Given the description of an element on the screen output the (x, y) to click on. 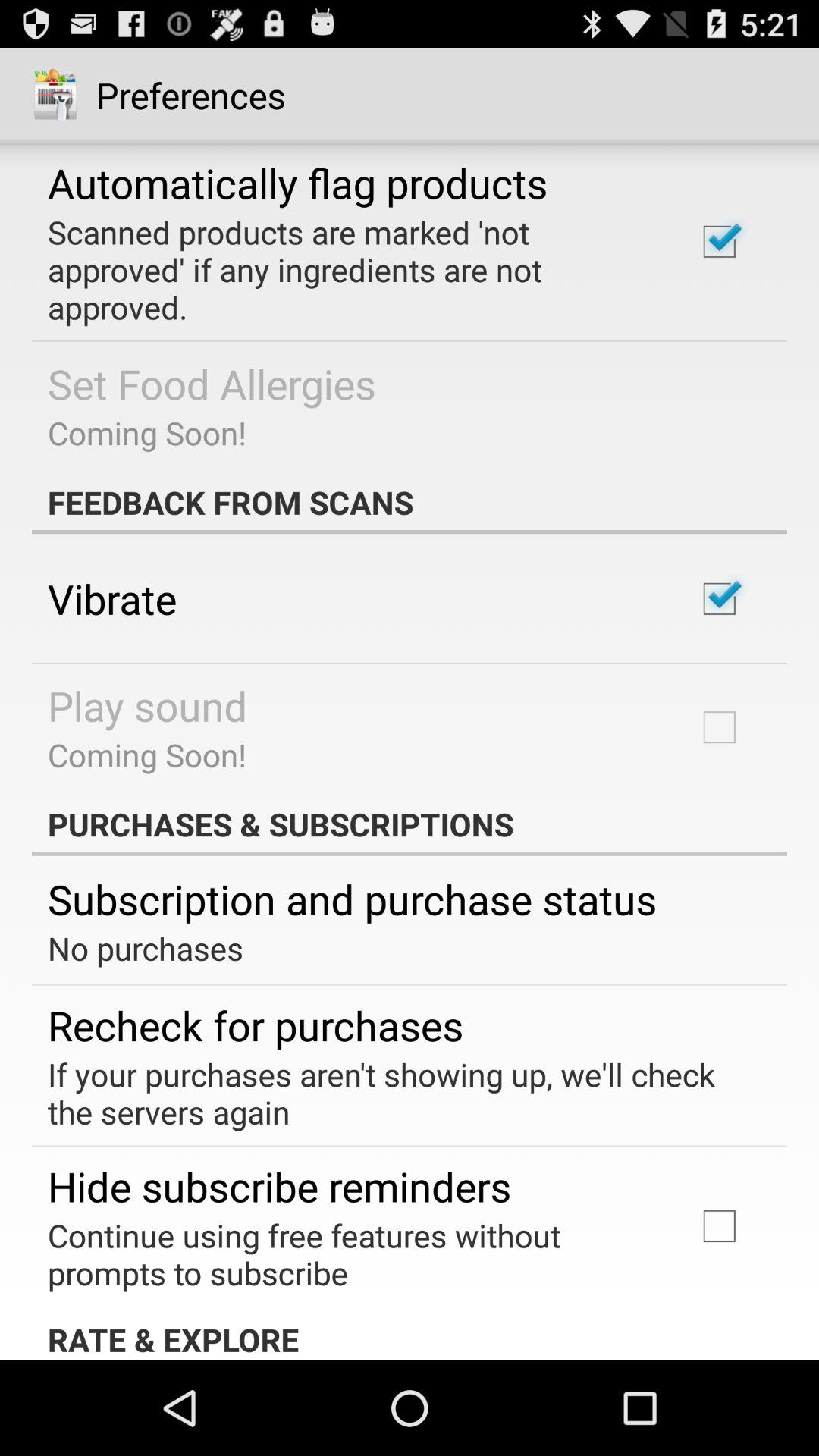
tap the feedback from scans icon (409, 502)
